Given the description of an element on the screen output the (x, y) to click on. 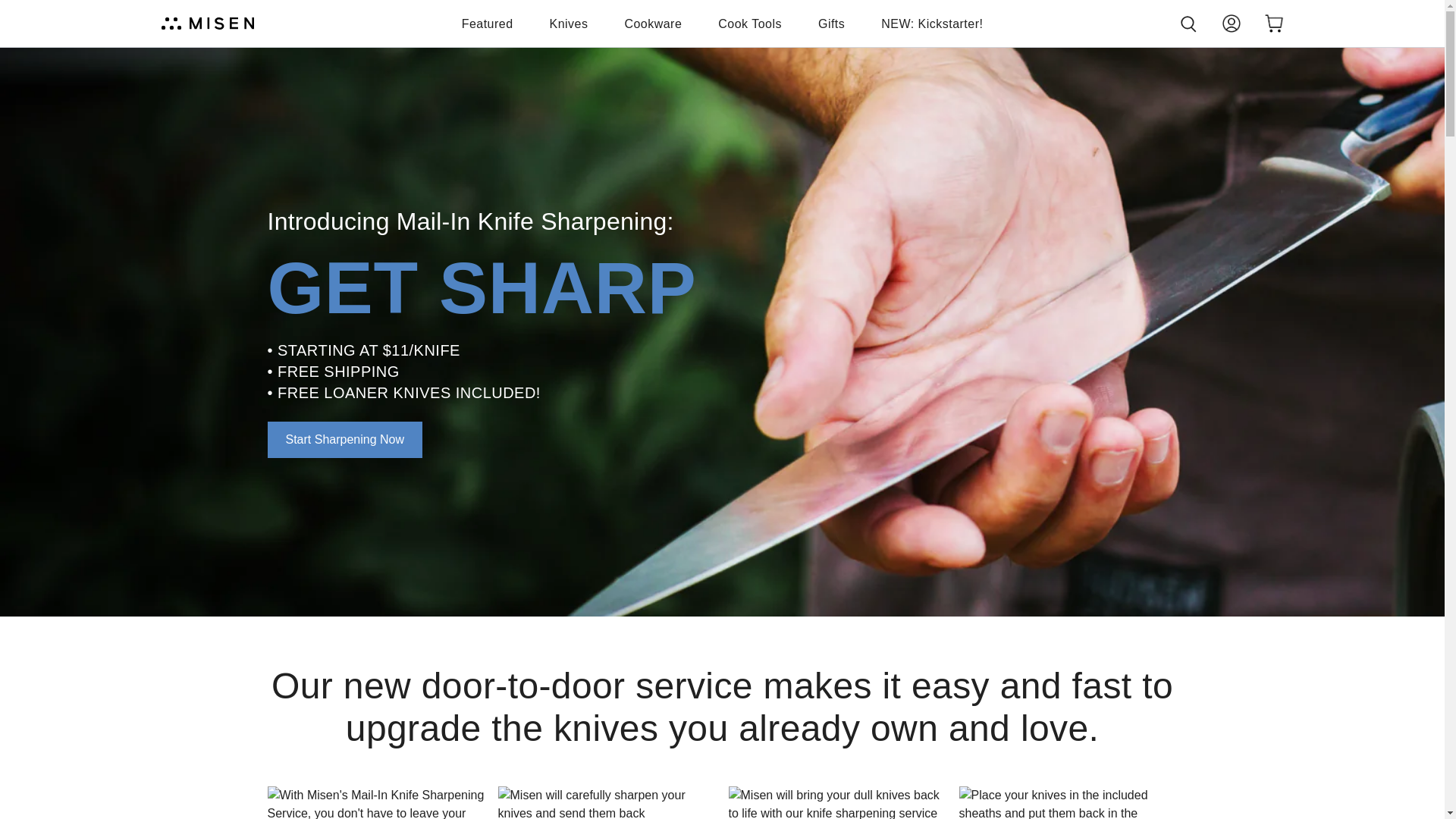
Skip to content (17, 8)
Gifts (831, 24)
NEW: Kickstarter! (931, 24)
Cook Tools (749, 24)
Featured (487, 24)
Knives (569, 24)
Cookware (652, 24)
